Given the description of an element on the screen output the (x, y) to click on. 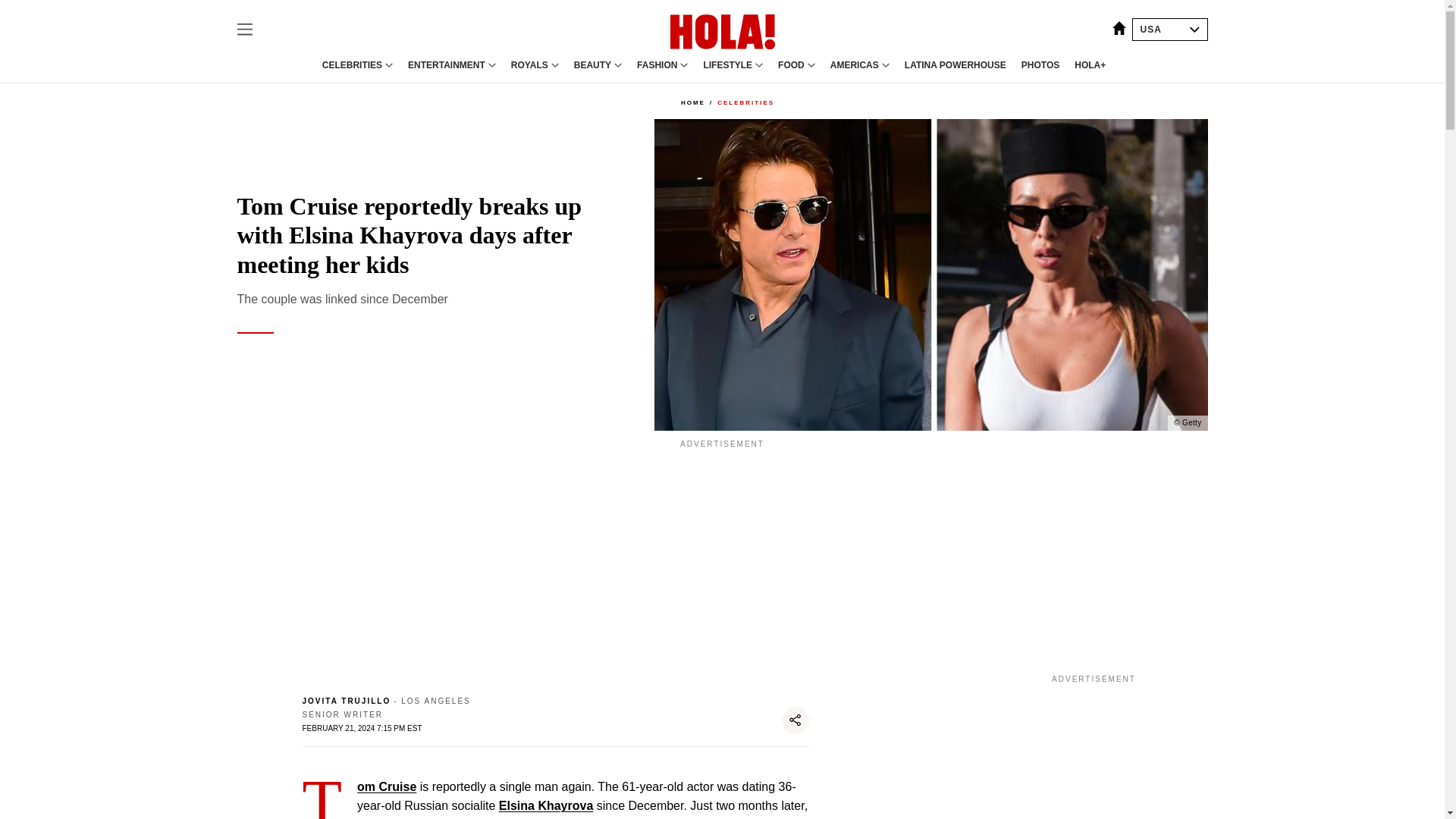
CELEBRITIES (351, 64)
USA (1169, 29)
ROYALS (529, 64)
BEAUTY (592, 64)
ENTERTAINMENT (445, 64)
